Given the description of an element on the screen output the (x, y) to click on. 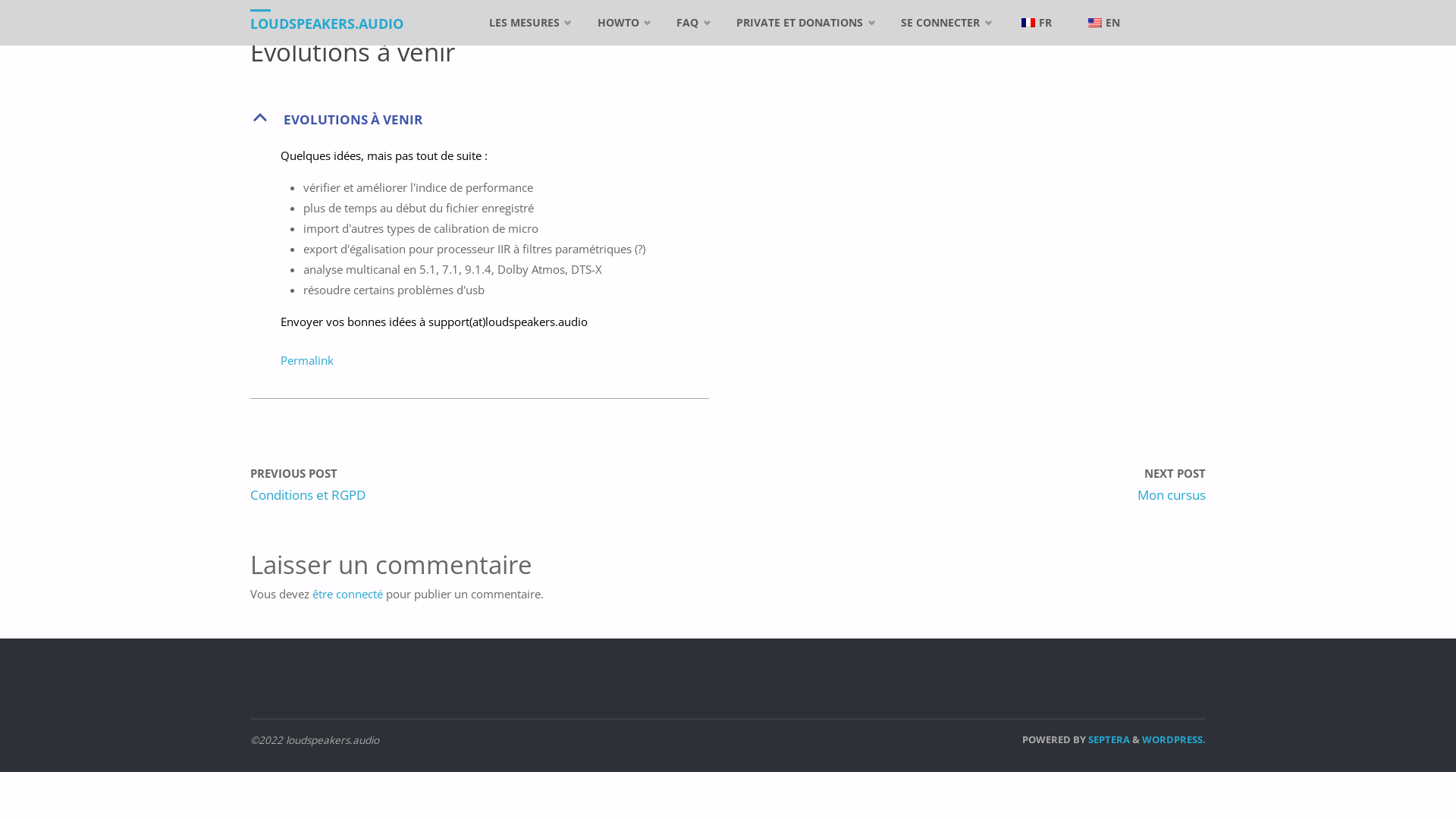
HOWTO Element type: text (620, 22)
Mon cursus Element type: text (1171, 494)
LOUDSPEAKERS.AUDIO Element type: text (326, 22)
English Element type: hover (1094, 22)
PRIVATE ET DONATIONS Element type: text (802, 22)
FAQ Element type: text (690, 22)
SE CONNECTER Element type: text (942, 22)
SEPTERA Element type: text (1107, 739)
Conditions et RGPD Element type: text (307, 494)
LES MESURES Element type: text (526, 22)
EN Element type: text (1102, 22)
WORDPRESS. Element type: text (1173, 739)
Permalink Element type: text (306, 359)
FR Element type: text (1034, 22)
